Given the description of an element on the screen output the (x, y) to click on. 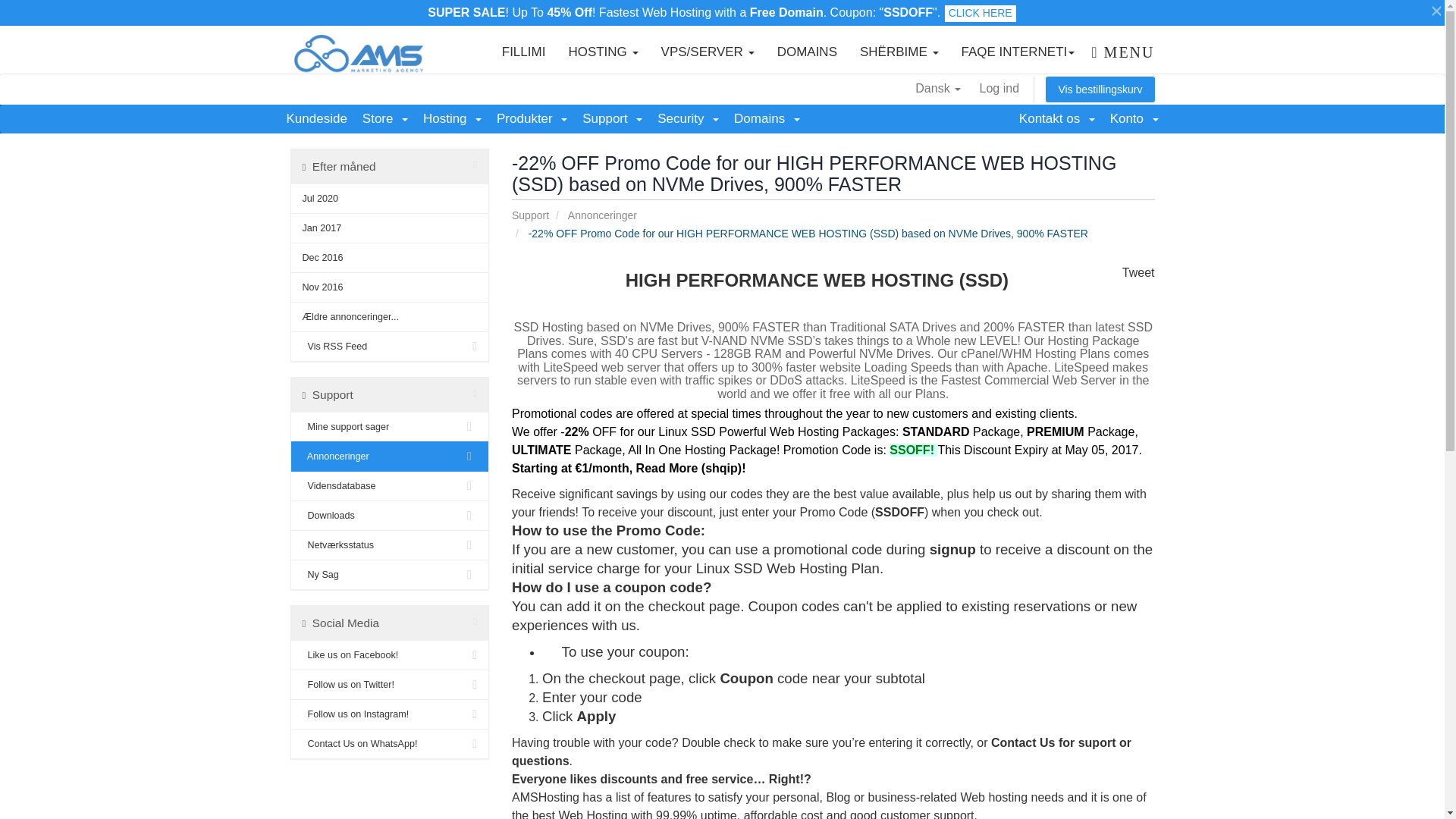
SUPER SALE (466, 11)
Premium Package (1055, 431)
CLICK HERE (980, 13)
Free Domain (786, 11)
DOMAINS (806, 49)
"SSDOFF" (908, 11)
Standart Package (935, 431)
Ultimate Package (542, 449)
FILLIMI (523, 49)
FAQE INTERNETI (1017, 49)
HOSTING (602, 49)
MENU (1114, 49)
